Given the description of an element on the screen output the (x, y) to click on. 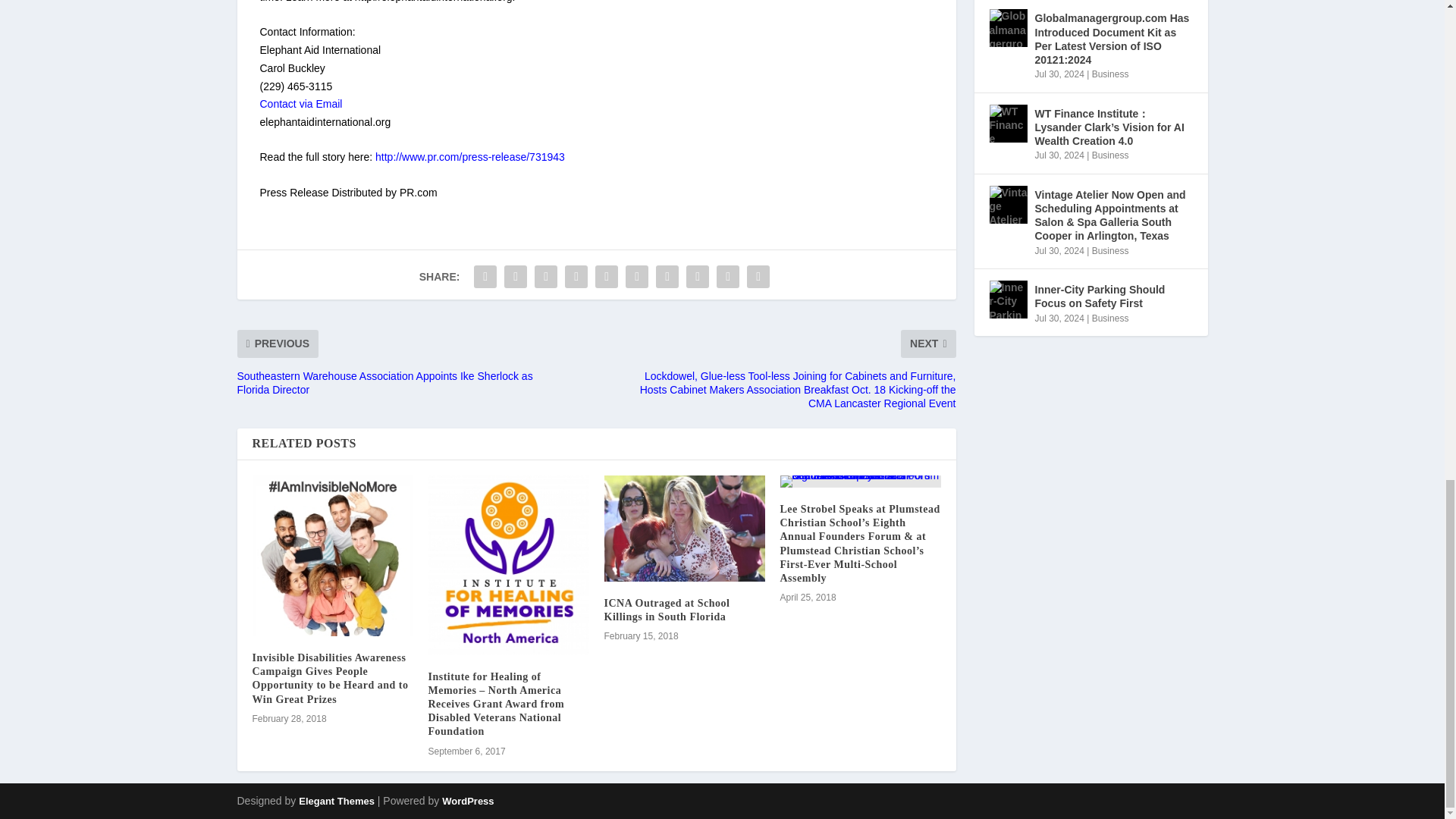
ICNA Outraged at School Killings in South Florida (684, 528)
ICNA Outraged at School Killings in South Florida (666, 609)
Contact via Email (300, 103)
